Given the description of an element on the screen output the (x, y) to click on. 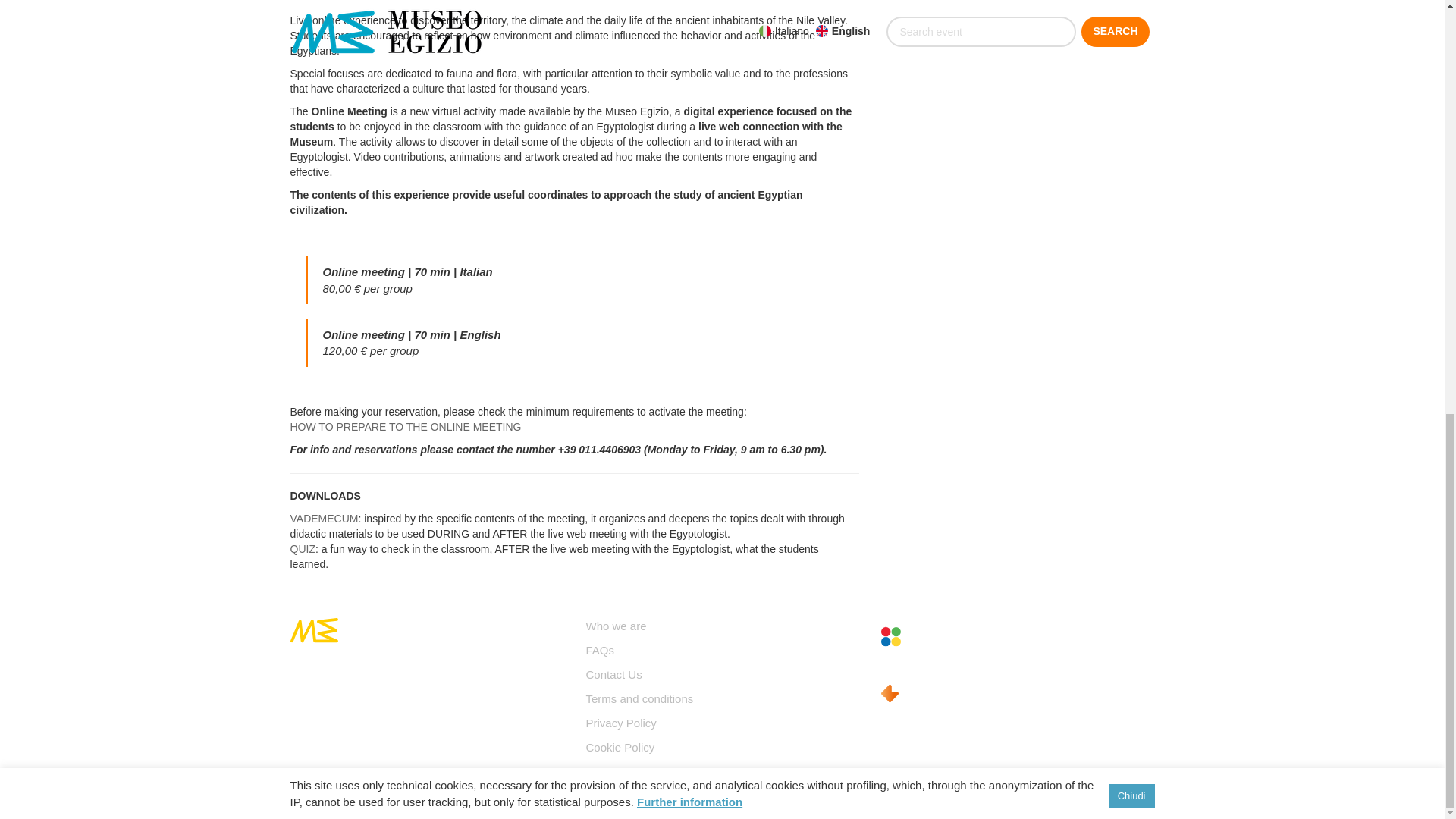
Software Biglietteria (918, 692)
Cookie Policy (619, 747)
Contact Us (613, 674)
VADEMECUM (323, 518)
HOW TO PREPARE TO THE ONLINE MEETING (405, 426)
Privacy Policy (620, 722)
FAQs (599, 649)
QUIZ (301, 548)
Who we are (615, 625)
Concessionaria Servizi Museali, Didattica e Visite Guidate (918, 639)
Terms and conditions (639, 698)
